Given the description of an element on the screen output the (x, y) to click on. 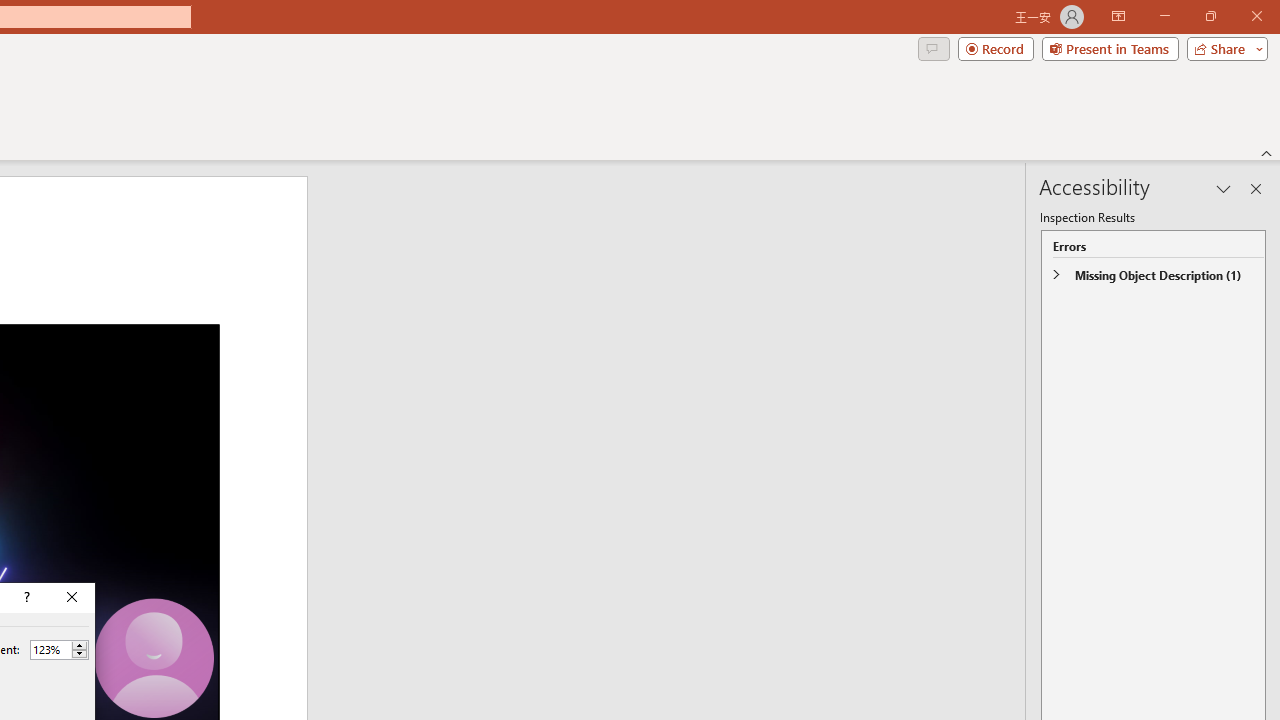
Percent (59, 650)
Context help (25, 597)
